Given the description of an element on the screen output the (x, y) to click on. 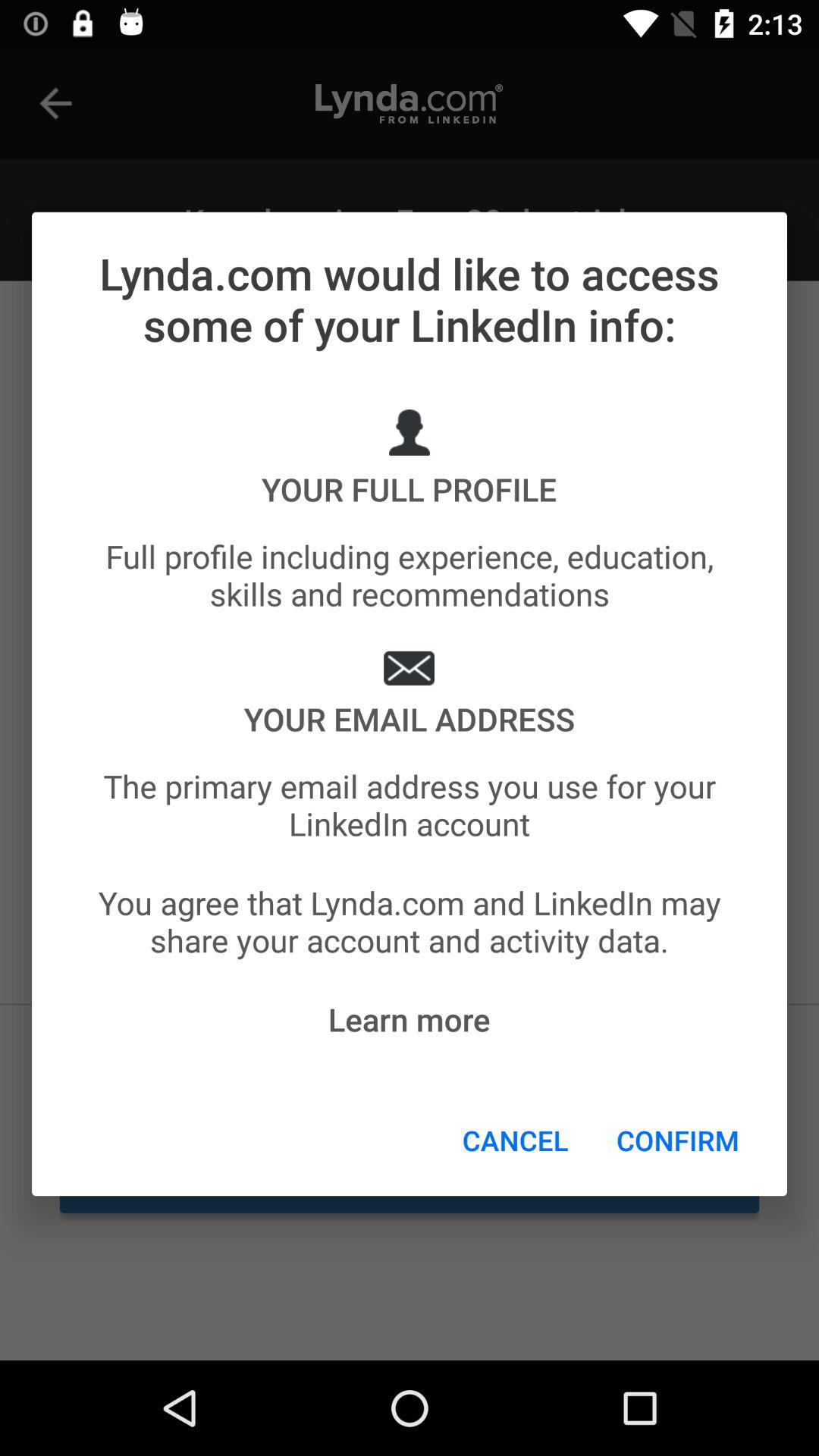
click icon below the you agree that item (409, 1018)
